Given the description of an element on the screen output the (x, y) to click on. 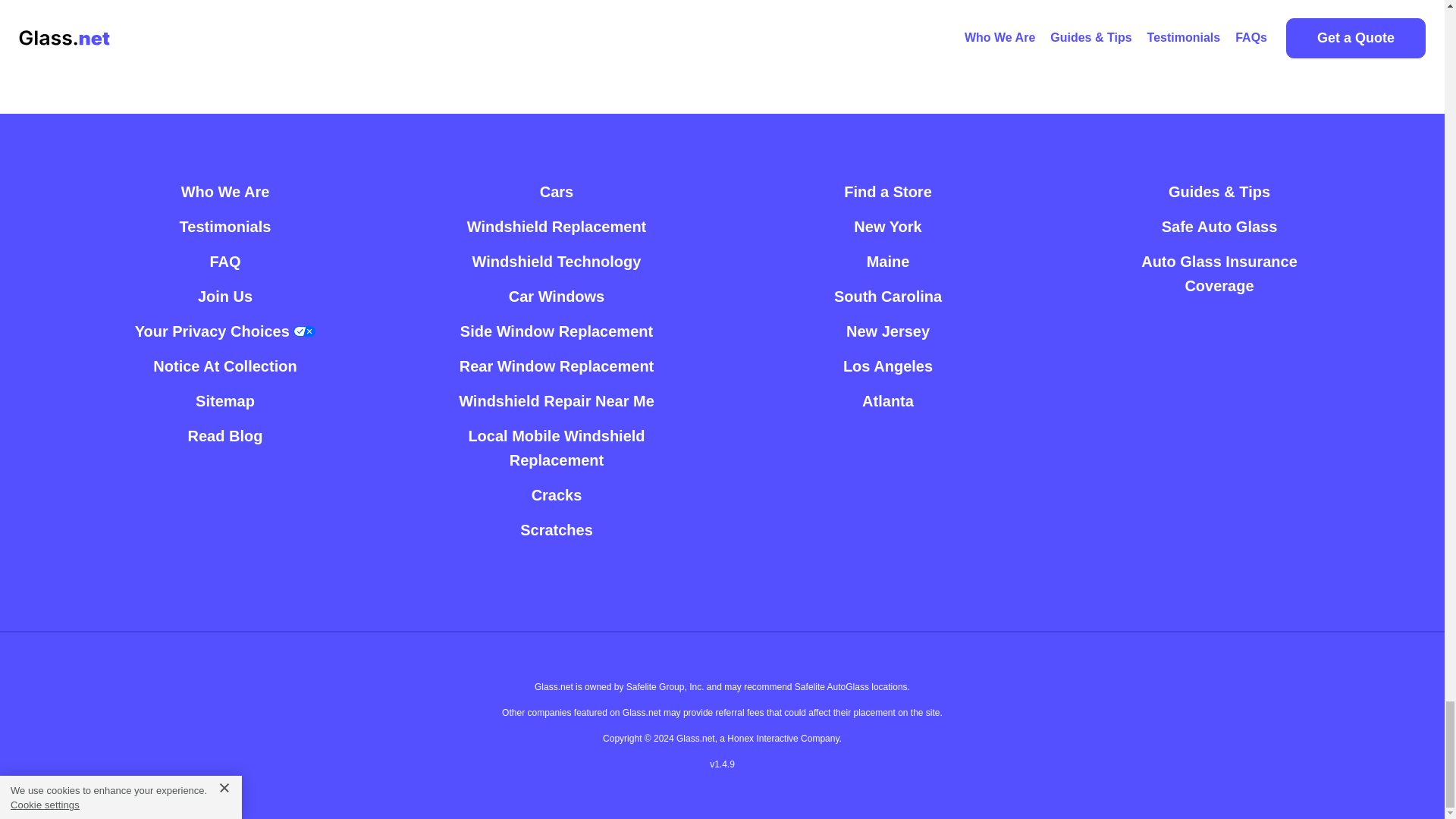
Your Privacy Choices (225, 330)
Local Mobile Windshield Replacement (555, 447)
Windshield Repair Near Me (555, 401)
Mobile Glass Shops Join Glass.NET (224, 296)
FAQ (224, 261)
Notice At Collection (224, 366)
Cracks (556, 494)
Windshield Replacement (556, 226)
Who We Are (224, 191)
South Carolina (888, 296)
